Given the description of an element on the screen output the (x, y) to click on. 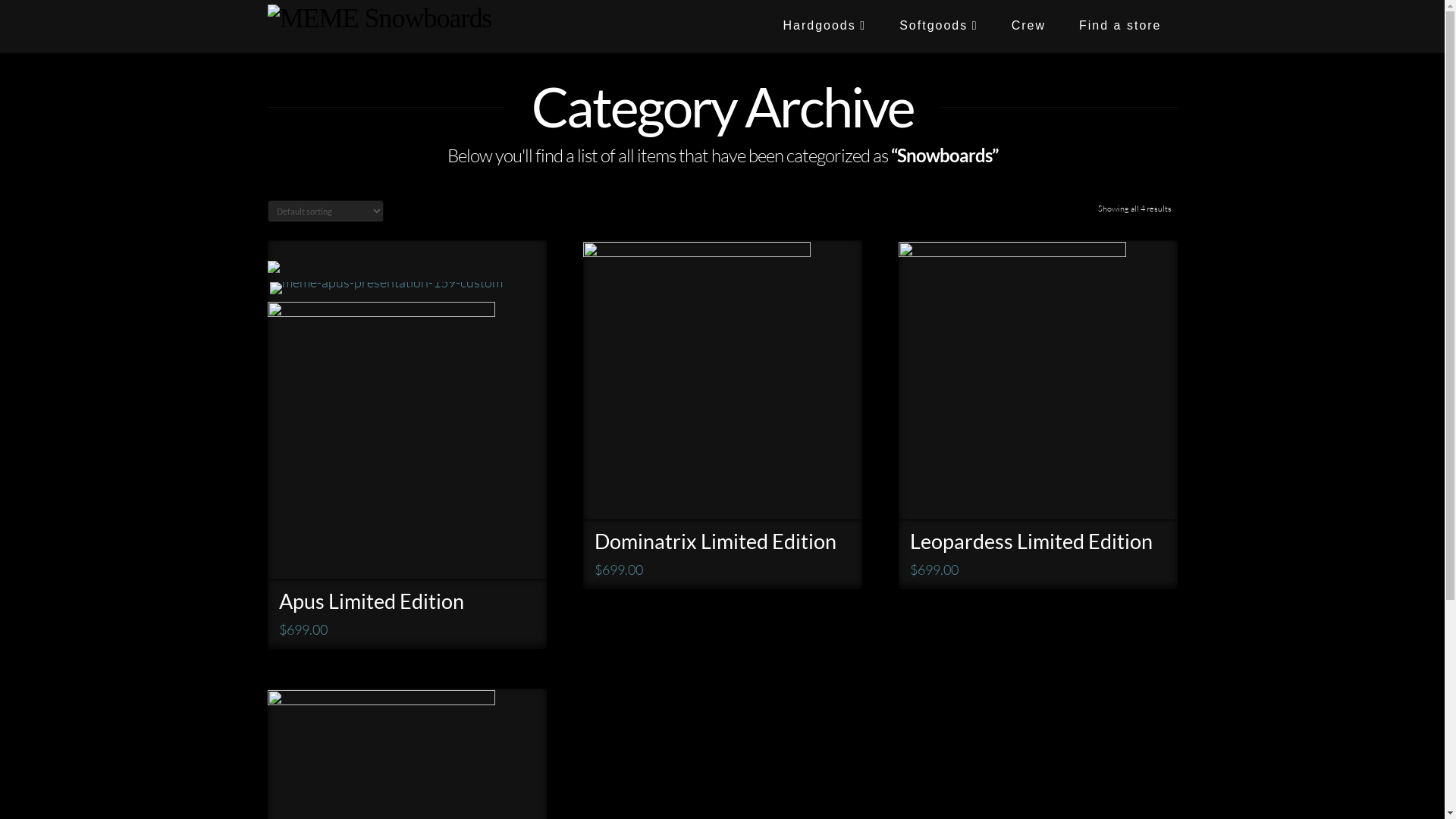
Softgoods Element type: text (937, 26)
Leopardess Limited Edition Element type: text (1031, 541)
Apus Limited Edition Element type: text (371, 601)
meme-apus-presentation-159-custom Element type: hover (385, 290)
Crew Element type: text (1027, 26)
Dominatrix Limited Edition Element type: text (715, 541)
Hardgoods Element type: text (823, 26)
meme-apus-presentation-149-custom Element type: hover (272, 266)
Find a store Element type: text (1118, 26)
